Given the description of an element on the screen output the (x, y) to click on. 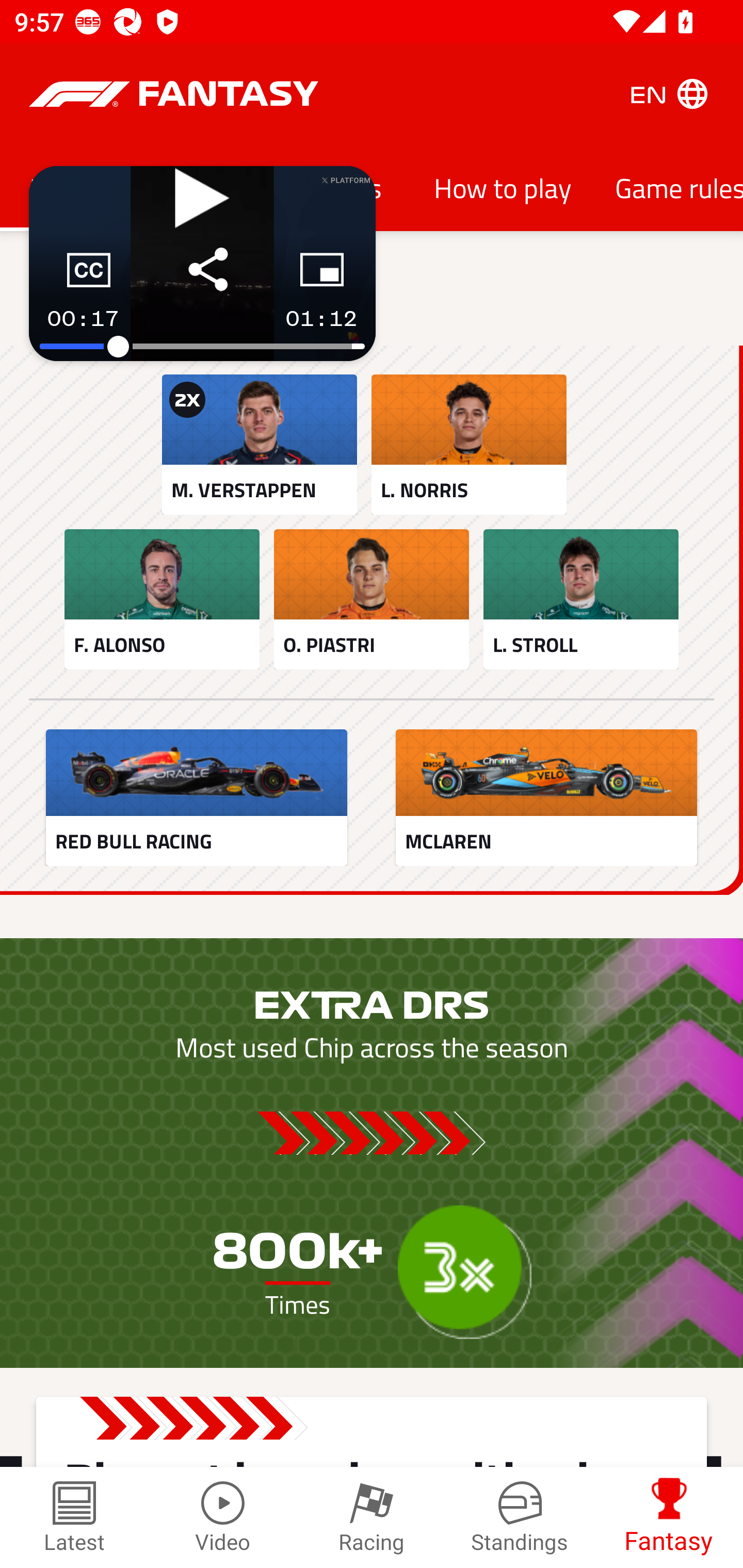
How to play (502, 187)
Game rules (668, 187)
2X M. VERSTAPPEN (259, 444)
L. NORRIS (468, 444)
F. ALONSO (161, 599)
O. PIASTRI (371, 599)
L. STROLL (580, 599)
RED BULL RACING (196, 797)
MCLAREN (546, 797)
Latest (74, 1517)
Video (222, 1517)
Racing (371, 1517)
Standings (519, 1517)
